Given the description of an element on the screen output the (x, y) to click on. 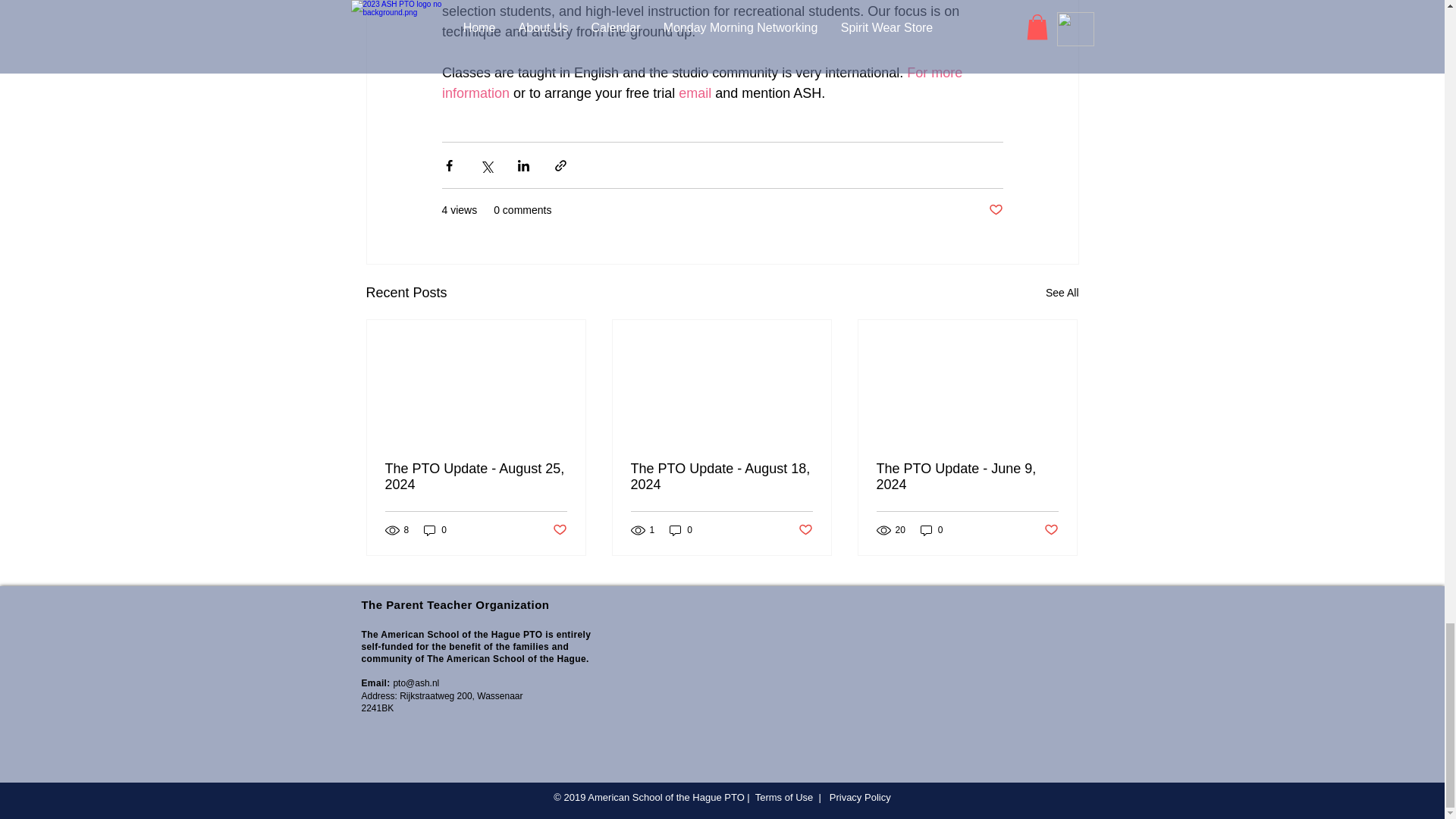
Post not marked as liked (995, 210)
0 (931, 530)
The PTO Update - June 9, 2024 (967, 477)
For more information (703, 82)
email (694, 92)
See All (1061, 292)
The PTO Update - August 18, 2024 (721, 477)
Post not marked as liked (558, 530)
0 (435, 530)
Post not marked as liked (804, 530)
